Given the description of an element on the screen output the (x, y) to click on. 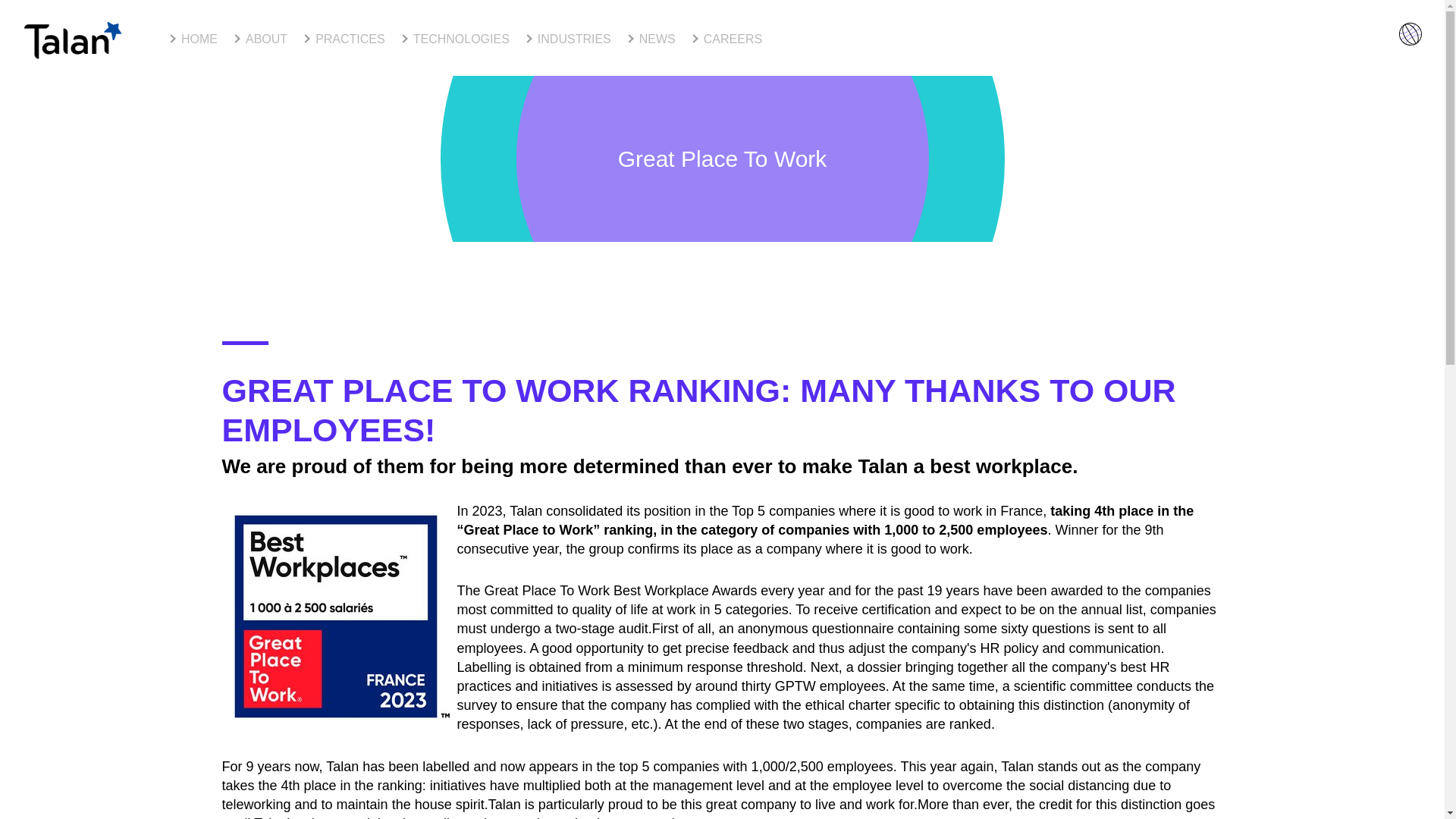
PRACTICES (343, 38)
ABOUT (259, 38)
NEWS (650, 38)
HOME (192, 38)
TECHNOLOGIES (454, 38)
open langage menu (1410, 33)
Home (72, 40)
INDUSTRIES (567, 38)
CAREERS (725, 38)
